Given the description of an element on the screen output the (x, y) to click on. 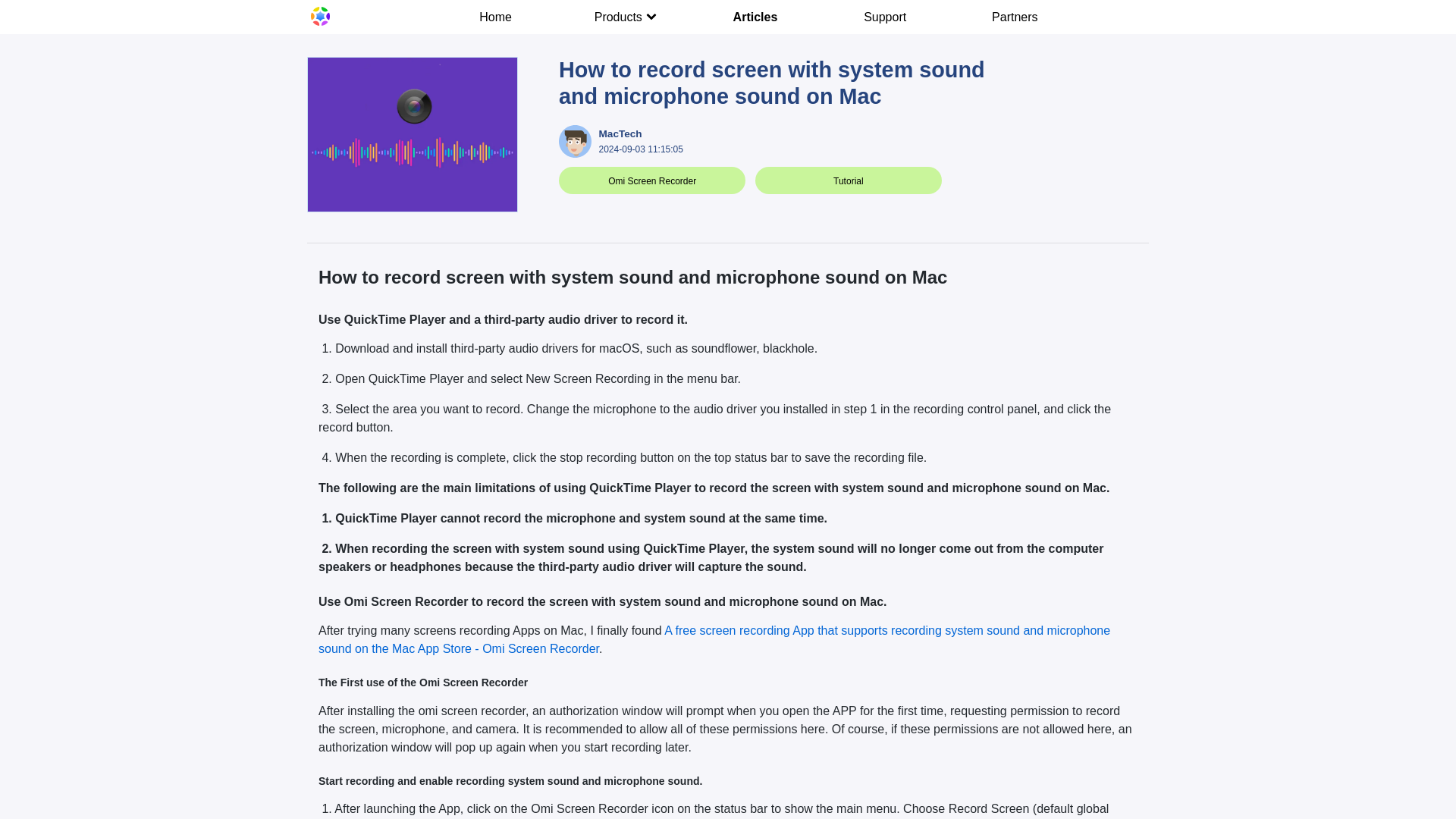
Home (495, 16)
Tutorial (847, 181)
Products (625, 16)
Partners (1015, 16)
Omi Screen Recorder (651, 181)
Articles (754, 16)
Support (885, 16)
